Given the description of an element on the screen output the (x, y) to click on. 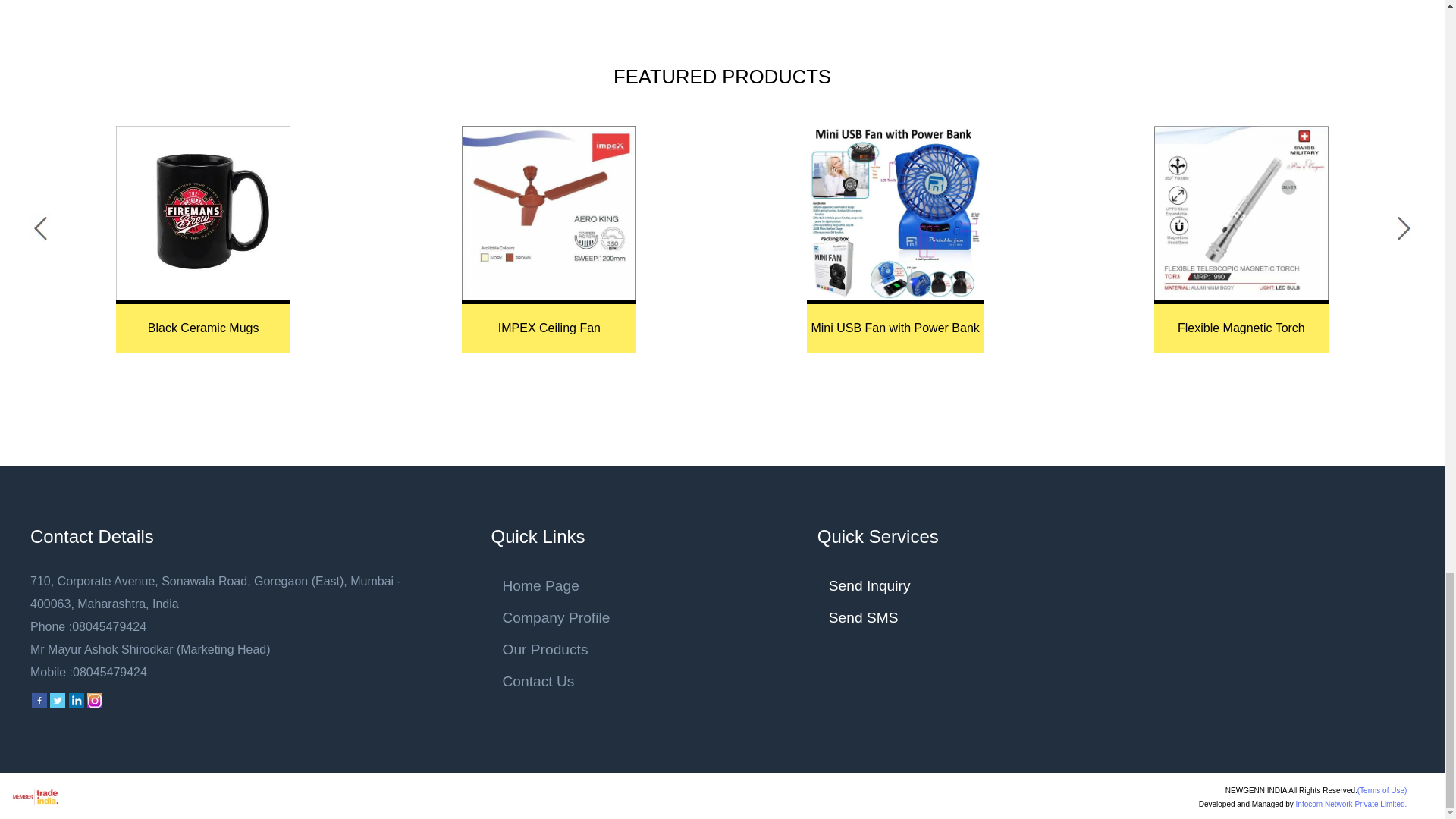
Flexible Magnetic Torch (1240, 213)
Mini USB Fan with Power Bank (894, 213)
IMPEX Ceiling Fan (548, 213)
Black Ceramic Mugs (202, 213)
